Given the description of an element on the screen output the (x, y) to click on. 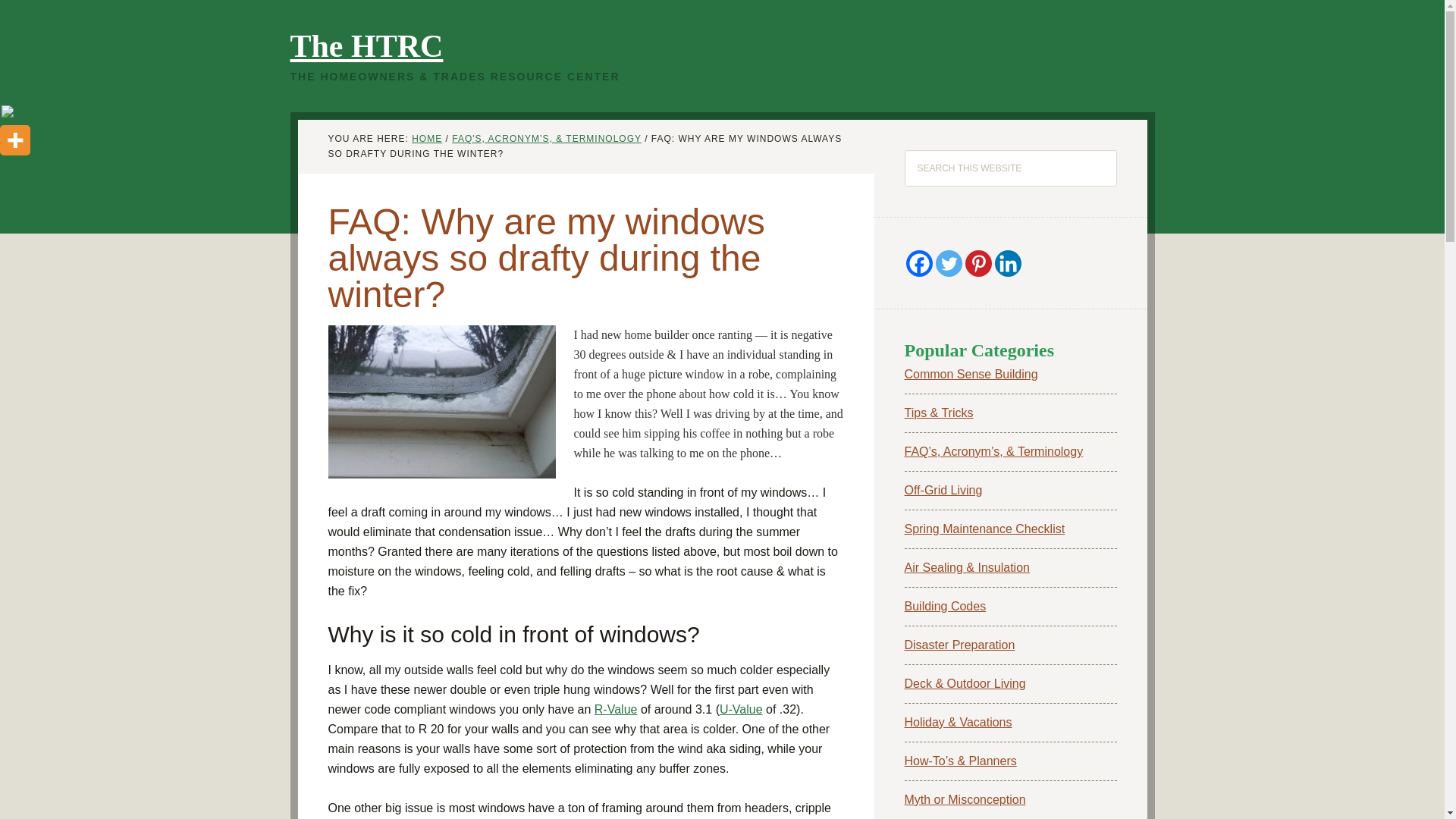
Linkedin (1008, 263)
Tweet (16, 92)
Spring Maintenance Checklist (984, 528)
R-Value (615, 708)
U-Value (740, 708)
Pinterest (977, 263)
Off-Grid Living (942, 490)
The HTRC (365, 45)
